Given the description of an element on the screen output the (x, y) to click on. 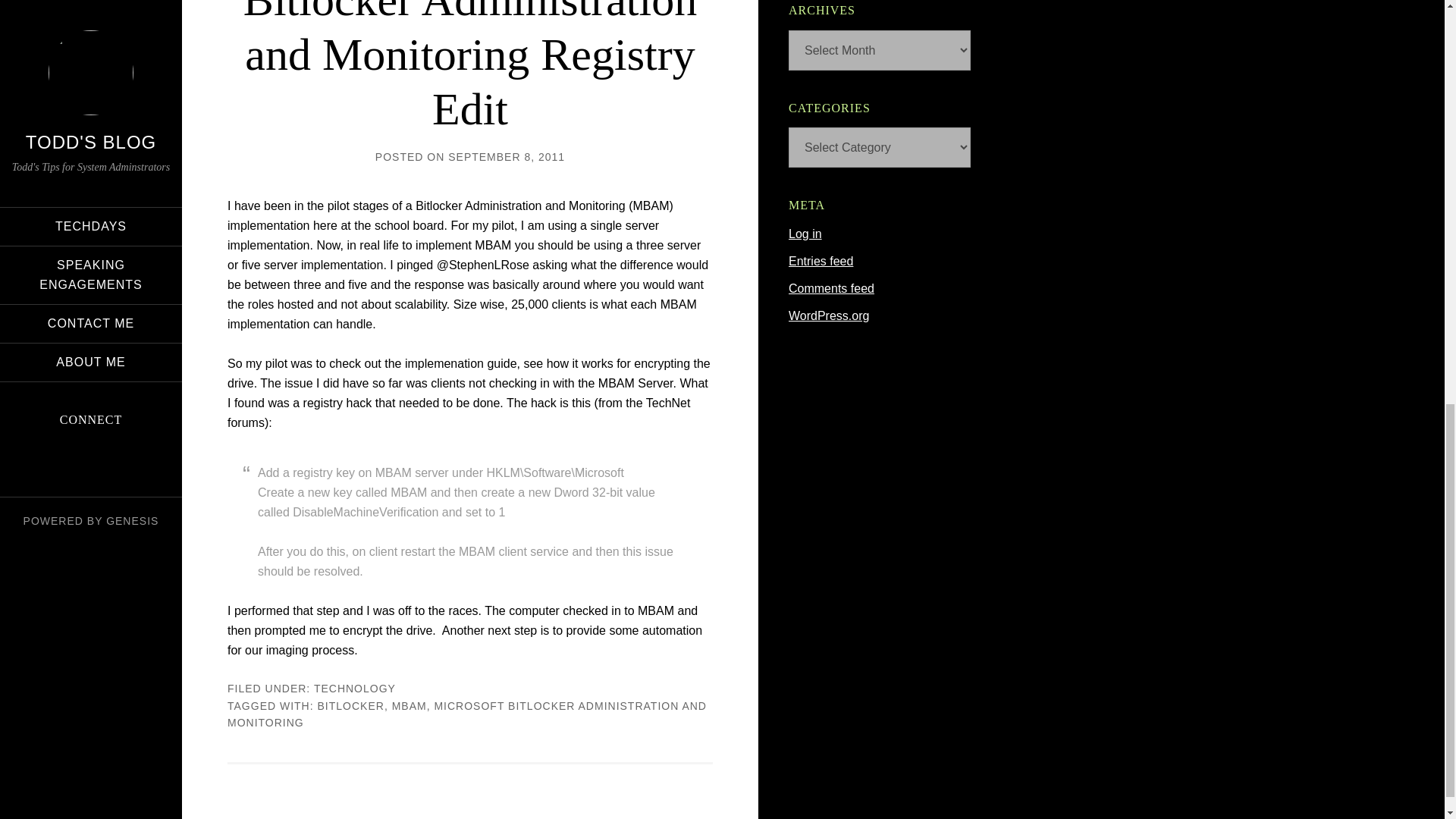
Log in (805, 233)
Comments feed (832, 287)
BITLOCKER (350, 705)
Entries feed (821, 260)
MICROSOFT BITLOCKER ADMINISTRATION AND MONITORING (466, 713)
MBAM (408, 705)
TECHNOLOGY (355, 688)
Bitlocker Administration and Monitoring Registry Edit (470, 67)
WordPress.org (829, 315)
